Given the description of an element on the screen output the (x, y) to click on. 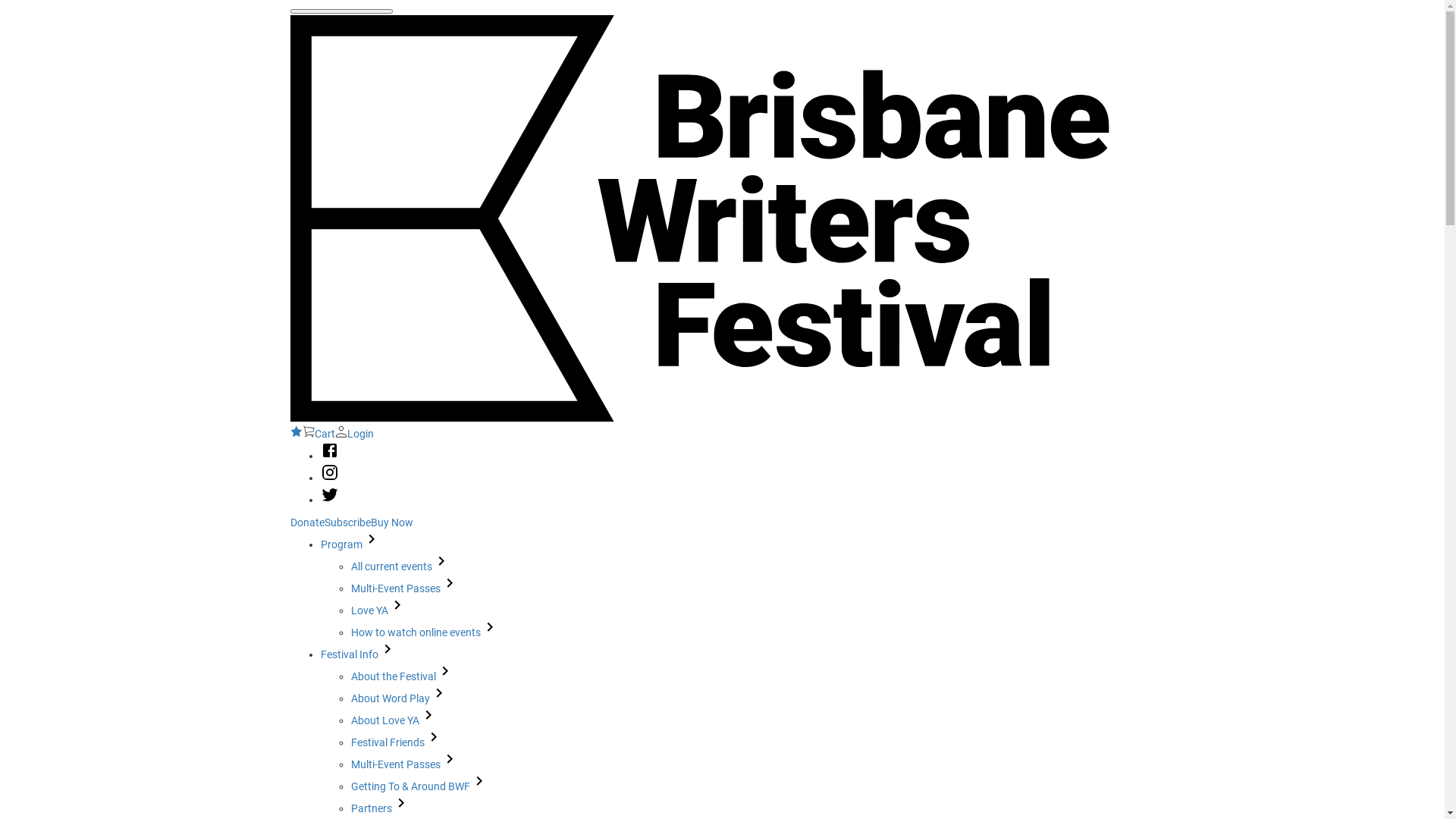
Love YA Element type: text (377, 610)
About the Festival Element type: text (401, 676)
Festival Info Element type: text (357, 654)
Multi-Event Passes Element type: text (404, 588)
All current events Element type: text (399, 566)
About Word Play Element type: text (398, 698)
Login Element type: text (354, 433)
Program Element type: text (349, 544)
Menu Element type: hover (340, 11)
Getting To & Around BWF Element type: text (418, 786)
Donate Element type: text (306, 522)
Cart Element type: text (317, 433)
Buy Now Element type: text (391, 522)
How to watch online events Element type: text (424, 632)
Multi-Event Passes Element type: text (404, 764)
Subscribe Element type: text (347, 522)
Festival Friends Element type: text (396, 742)
Partners Element type: text (379, 808)
About Love YA Element type: text (393, 720)
